Given the description of an element on the screen output the (x, y) to click on. 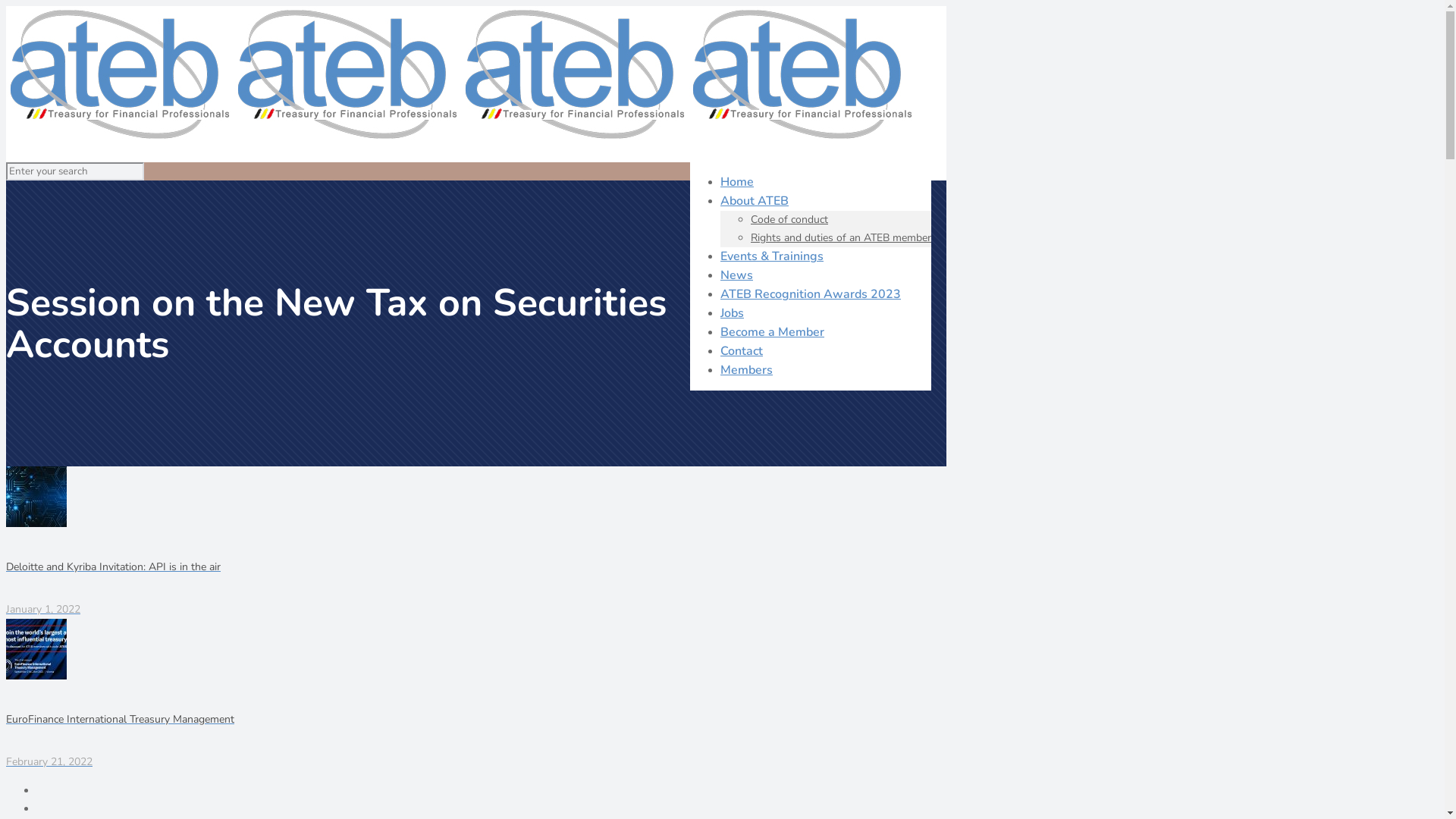
ATEB Element type: hover (461, 138)
News Element type: text (736, 274)
ATEB Recognition Awards 2023 Element type: text (810, 293)
Rights and duties of an ATEB member Element type: text (840, 237)
Jobs Element type: text (731, 312)
Contact Element type: text (741, 350)
Become a Member Element type: text (772, 331)
Events & Trainings Element type: text (771, 255)
Home Element type: text (736, 181)
About ATEB Element type: text (754, 200)
Members Element type: text (746, 369)
Code of conduct Element type: text (789, 219)
